Given the description of an element on the screen output the (x, y) to click on. 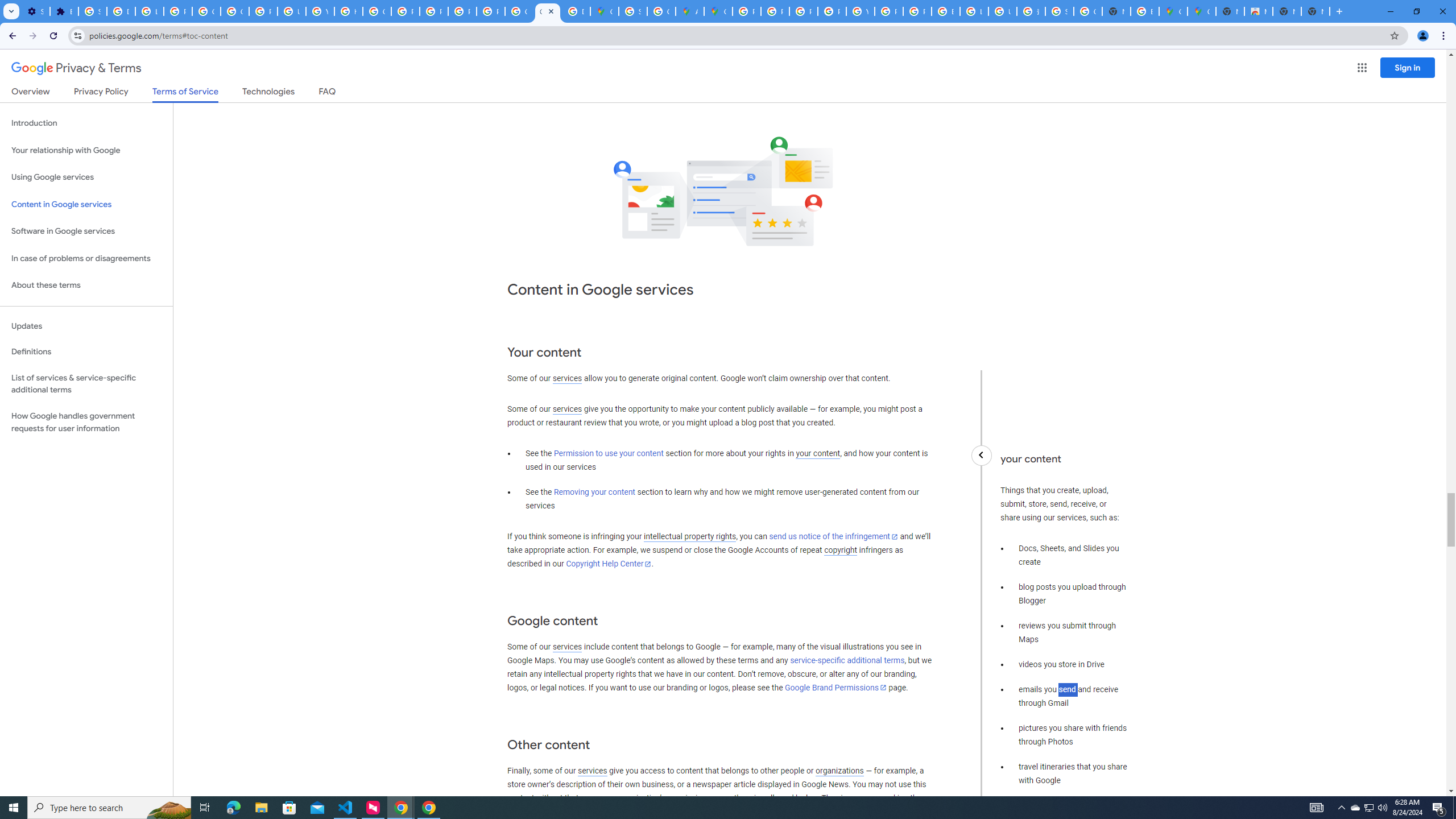
Google apps (1362, 67)
Browse Chrome as a guest - Computer - Google Chrome Help (945, 11)
Delete photos & videos - Computer - Google Photos Help (120, 11)
Google Maps (1201, 11)
Privacy & Terms (76, 68)
Technologies (268, 93)
Settings - On startup (35, 11)
YouTube (320, 11)
